Given the description of an element on the screen output the (x, y) to click on. 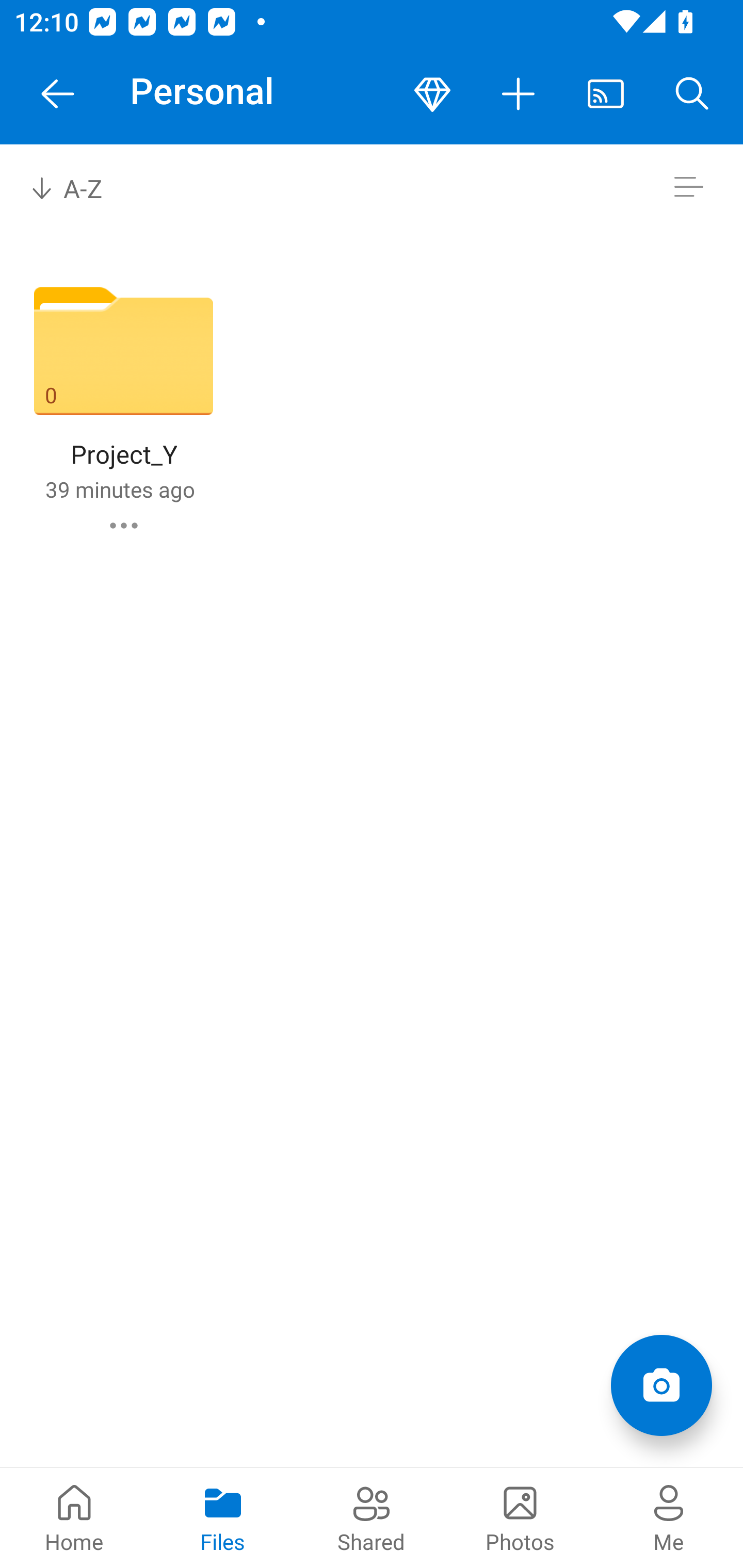
Navigate Up (57, 93)
Cast. Disconnected (605, 93)
Premium button (432, 93)
More actions button (518, 93)
Search button (692, 93)
A-Z Sort by combo box, sort by name, A to Z (80, 187)
Switch to list view (688, 187)
39 minutes ago (119, 489)
Project_Y commands (123, 525)
Add items Scan (660, 1385)
Home pivot Home (74, 1517)
Shared pivot Shared (371, 1517)
Photos pivot Photos (519, 1517)
Me pivot Me (668, 1517)
